Given the description of an element on the screen output the (x, y) to click on. 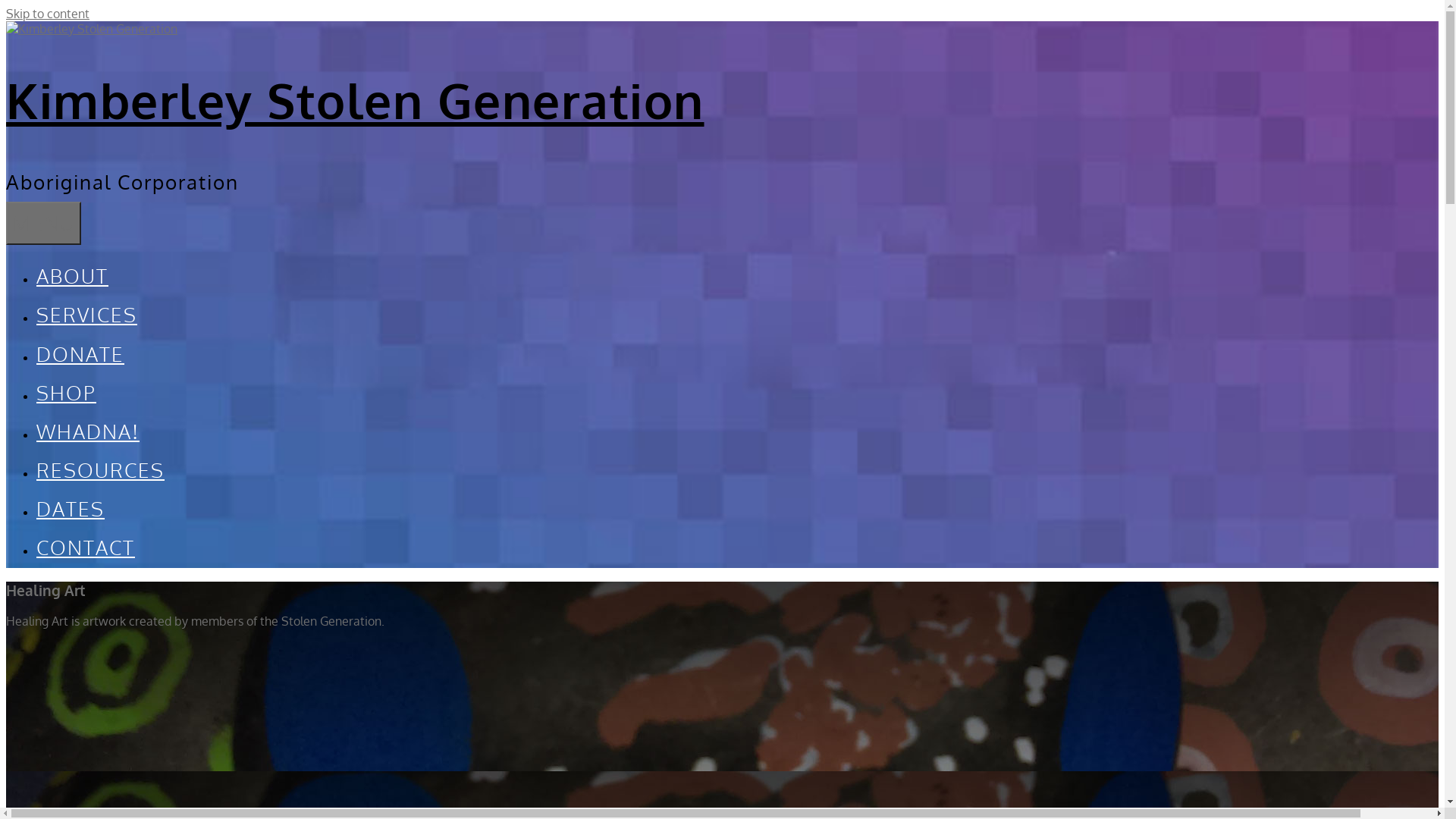
WHADNA! Element type: text (87, 431)
CONTACT Element type: text (85, 547)
ABOUT Element type: text (72, 275)
SHOP Element type: text (66, 392)
SERVICES Element type: text (86, 314)
Kimberley Stolen Generation Element type: text (355, 99)
RESOURCES Element type: text (100, 470)
Skip to content Element type: text (47, 13)
DONATE Element type: text (80, 353)
MENU Element type: text (43, 222)
DATES Element type: text (70, 508)
